Given the description of an element on the screen output the (x, y) to click on. 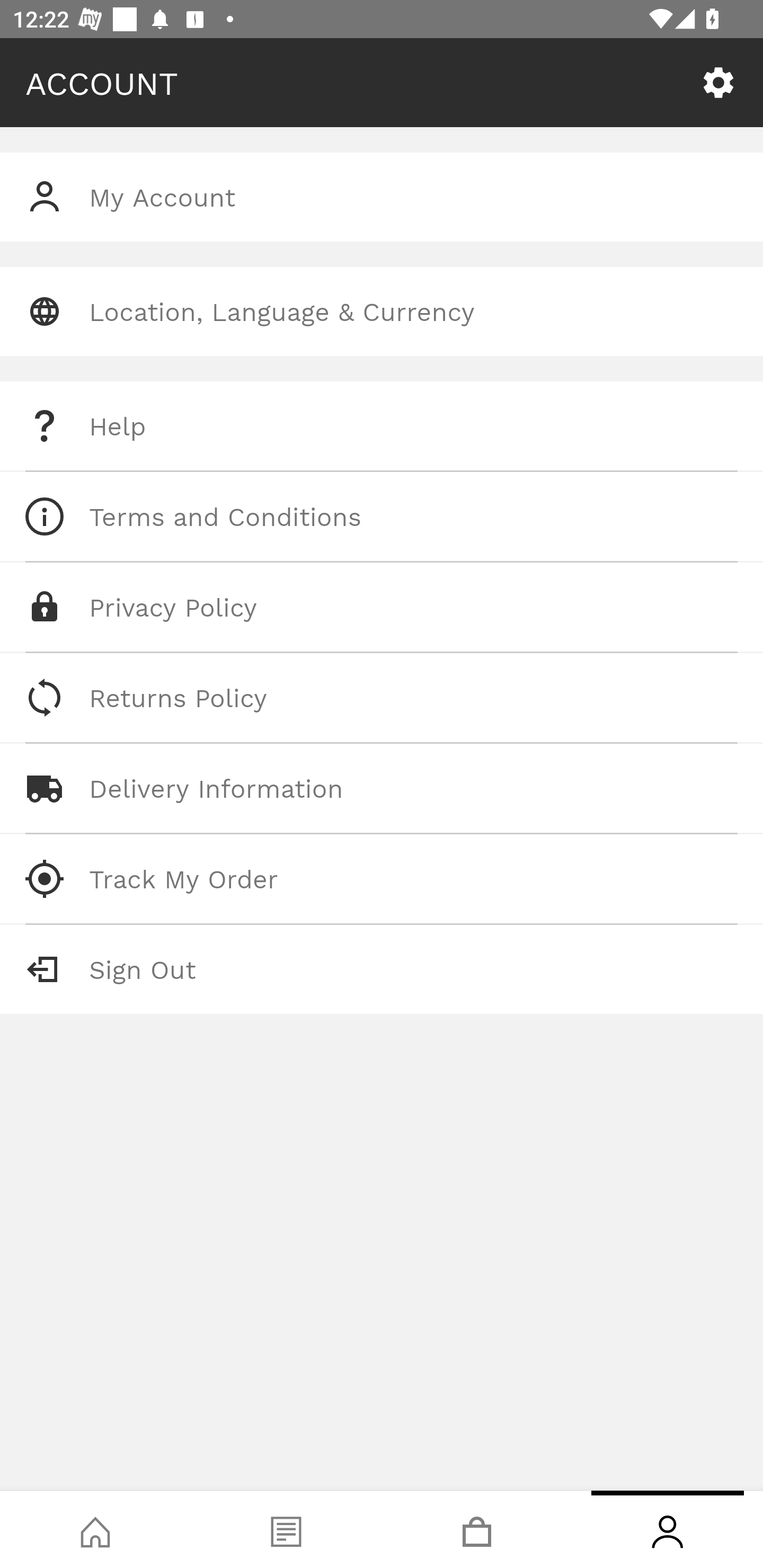
SETTINGS (718, 82)
My Account (381, 196)
Location, Language & Currency (381, 310)
Help (381, 425)
Terms and Conditions (381, 516)
Privacy Policy (381, 607)
Returns Policy (381, 697)
Delivery Information (381, 787)
Track My Order (381, 878)
Sign Out (381, 969)
Shop, tab, 1 of 4 (95, 1529)
Blog, tab, 2 of 4 (285, 1529)
Basket, tab, 3 of 4 (476, 1529)
Account, tab, 4 of 4 (667, 1529)
